Given the description of an element on the screen output the (x, y) to click on. 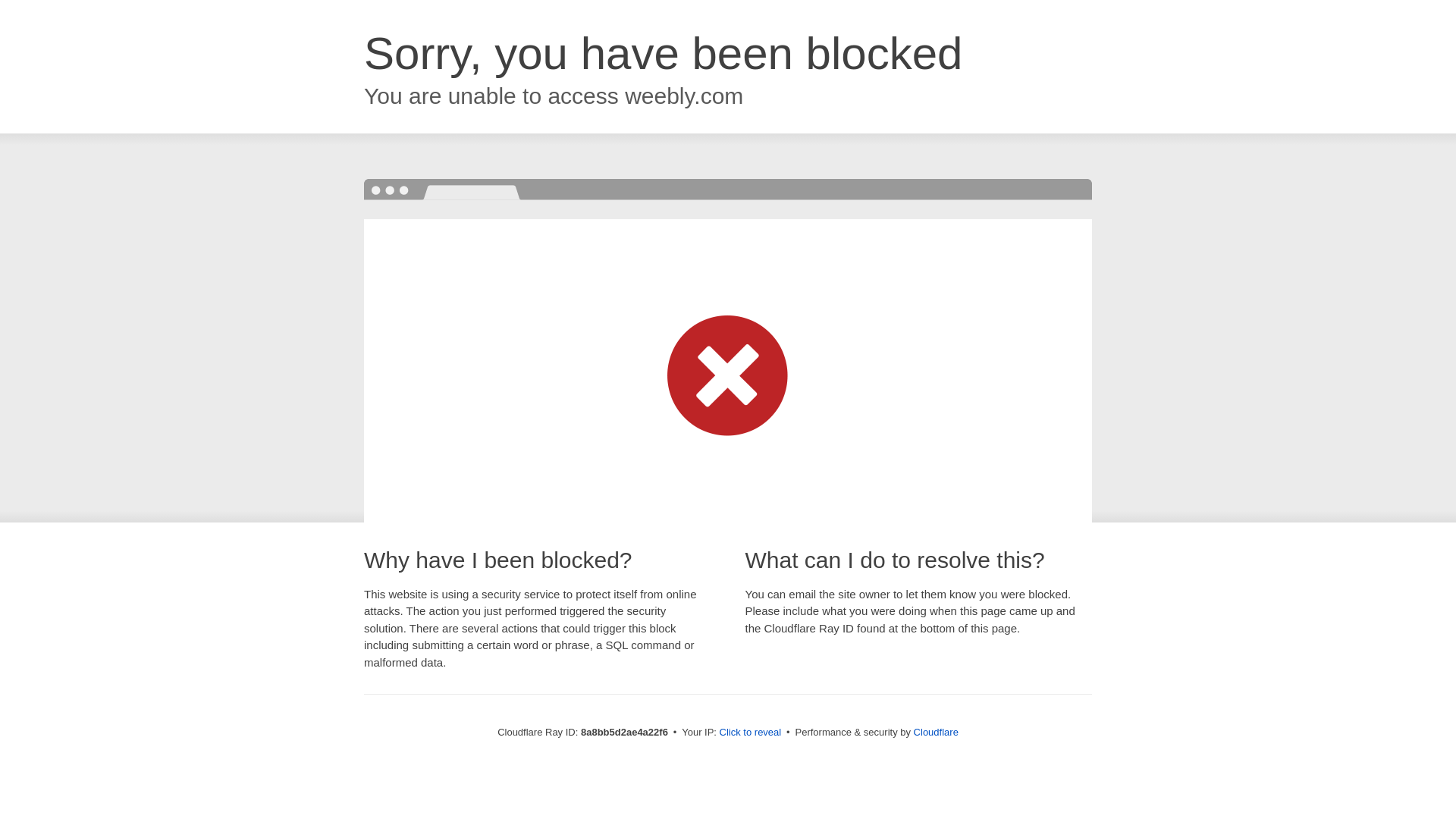
Click to reveal (750, 732)
Cloudflare (936, 731)
